Given the description of an element on the screen output the (x, y) to click on. 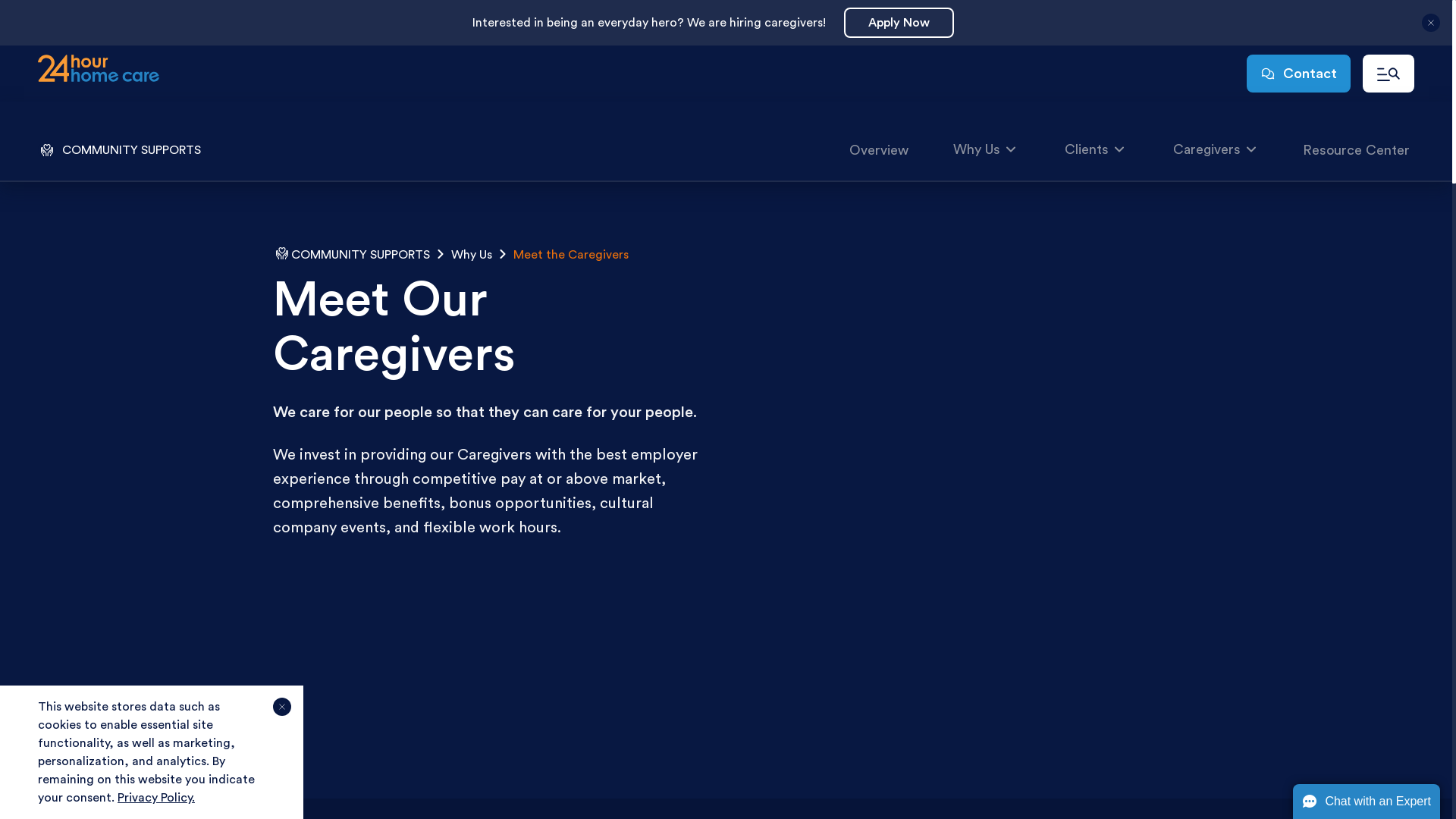
Why Us Element type: text (984, 149)
Why Us Element type: text (470, 254)
COMMUNITY SUPPORTS Element type: text (360, 254)
Resource Center Element type: text (1355, 149)
Privacy Policy. Element type: text (155, 797)
Overview Element type: text (878, 149)
Apply Now Element type: text (898, 22)
Home Element type: text (98, 69)
Contact Element type: text (1298, 73)
Clients Element type: text (1095, 149)
Caregivers Element type: text (1215, 149)
